Given the description of an element on the screen output the (x, y) to click on. 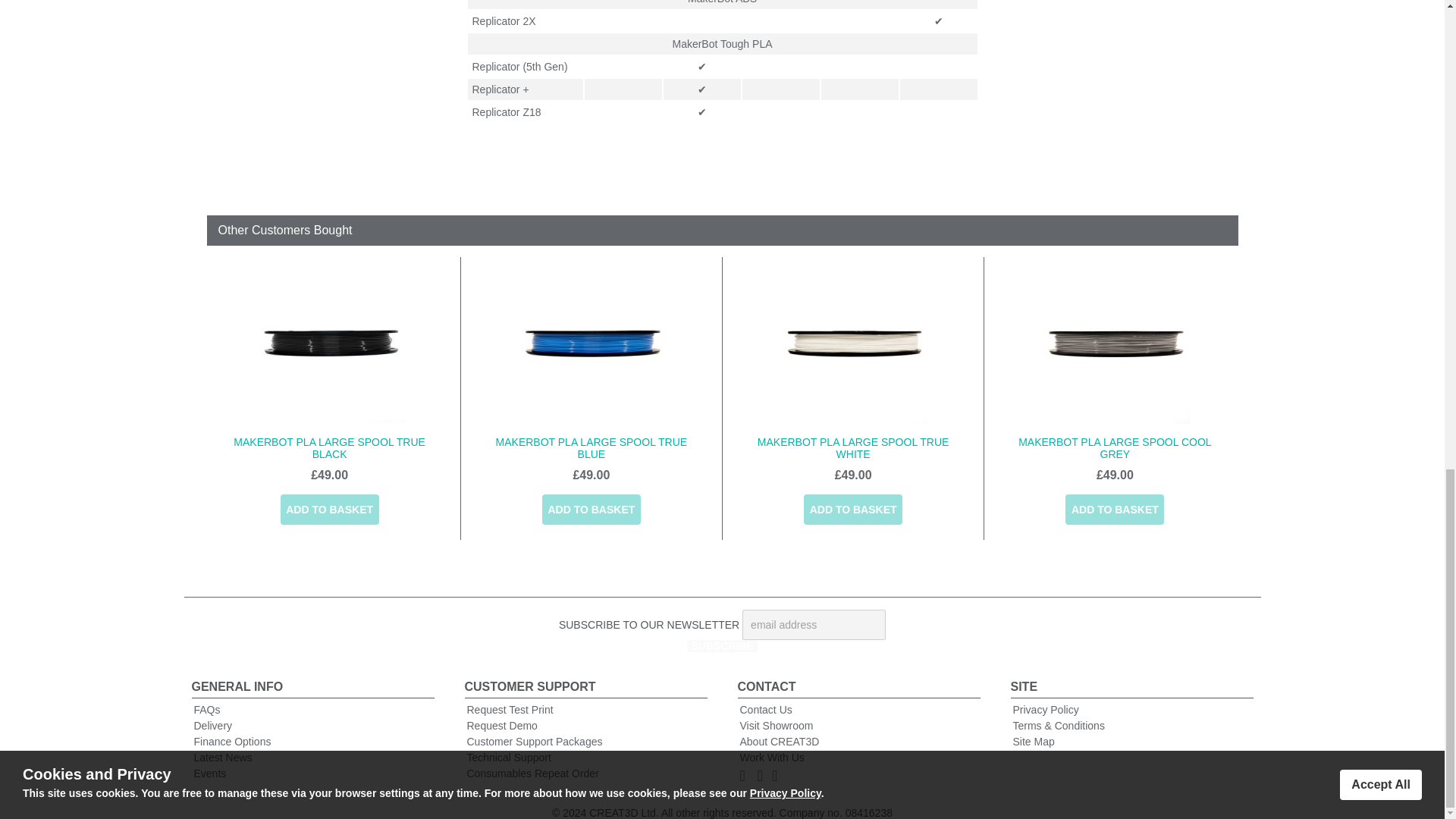
ADD TO BASKET (329, 509)
About CREAT3D (779, 741)
Request Test Print (510, 709)
ADD TO BASKET (852, 509)
Finance Options (231, 741)
Contact Us (765, 709)
Site Map   (1037, 741)
MAKERBOT PLA LARGE SPOOL COOL GREY (1114, 447)
Request Demo (502, 725)
Delivery (212, 725)
Privacy Policy (1045, 709)
MAKERBOT PLA LARGE SPOOL TRUE BLUE (591, 447)
MAKERBOT PLA LARGE SPOOL TRUE BLACK (328, 447)
Subscribe (722, 645)
Work With Us (772, 757)
